Given the description of an element on the screen output the (x, y) to click on. 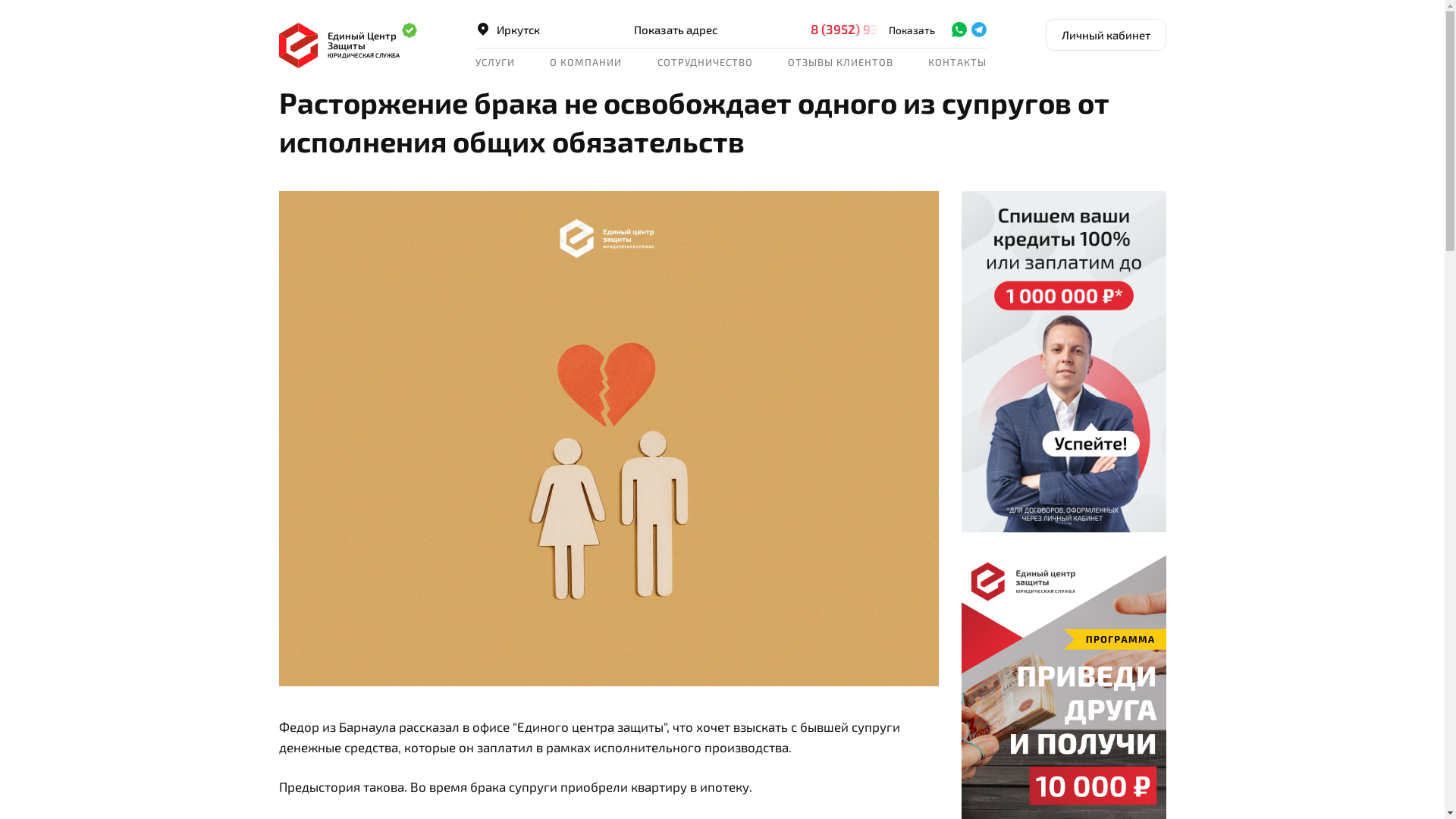
8 (3952) 93-04-88 Element type: text (878, 28)
